Given the description of an element on the screen output the (x, y) to click on. 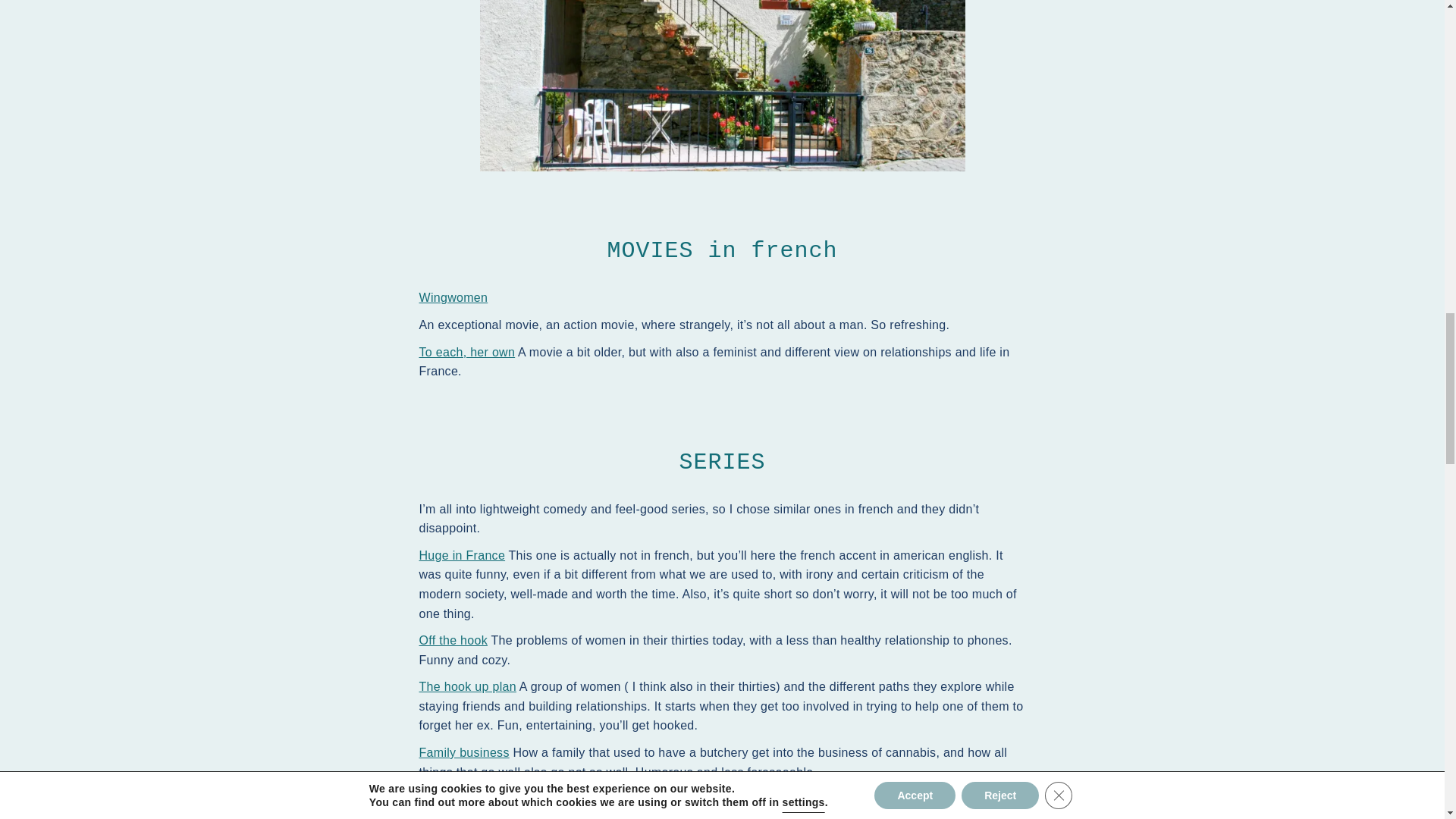
Huge in France (462, 554)
The hook up plan (467, 686)
Wingwomen (453, 297)
Family business (463, 752)
To each, her own (467, 351)
Off the hook (452, 640)
The Parisian agency (476, 798)
